Given the description of an element on the screen output the (x, y) to click on. 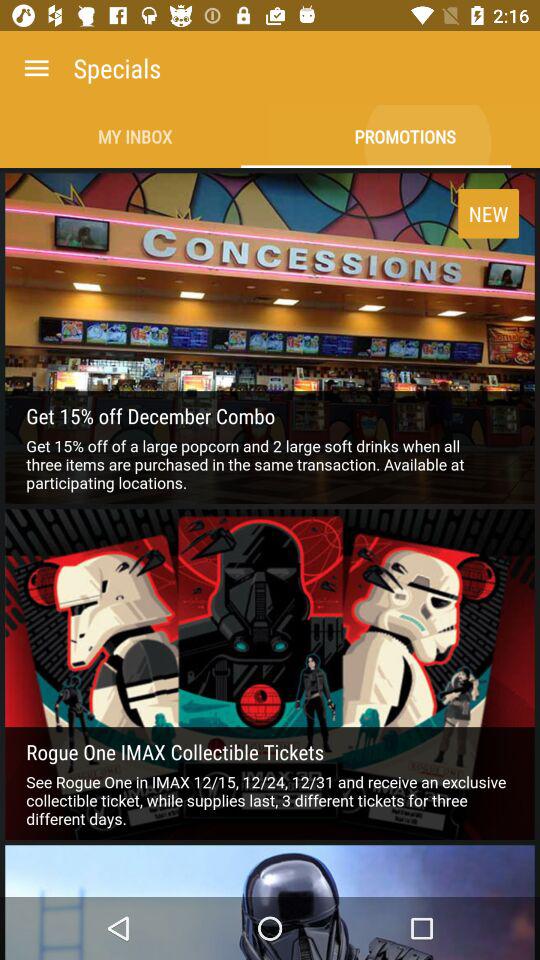
launch item to the left of specials icon (36, 68)
